Given the description of an element on the screen output the (x, y) to click on. 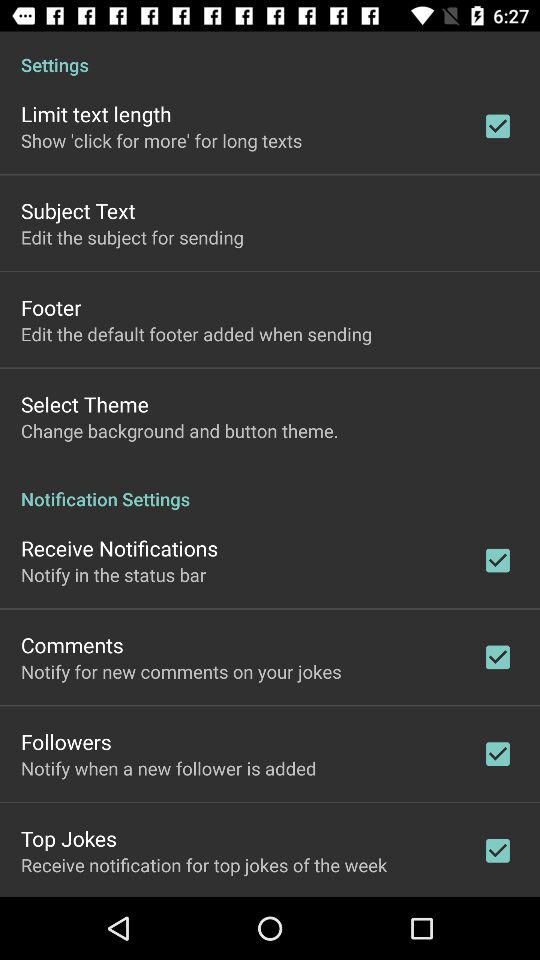
launch the followers (66, 741)
